Given the description of an element on the screen output the (x, y) to click on. 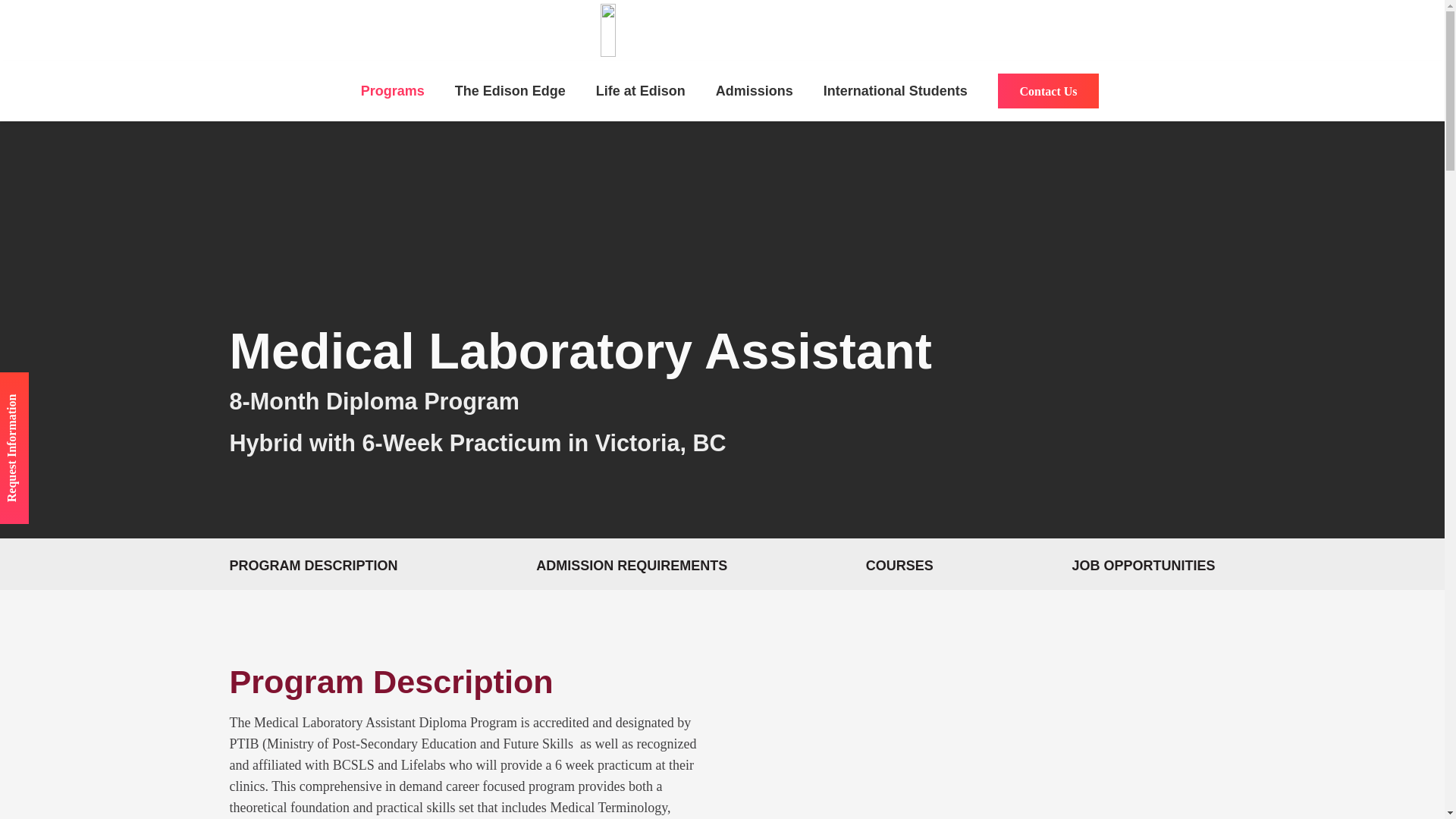
Contact Us (1048, 90)
Life at Edison (640, 90)
ADMISSION REQUIREMENTS (630, 565)
Programs (392, 90)
Admissions (754, 90)
PROGRAM DESCRIPTION (312, 565)
International Students (895, 90)
The Edison Edge (509, 90)
COURSES (899, 565)
